Given the description of an element on the screen output the (x, y) to click on. 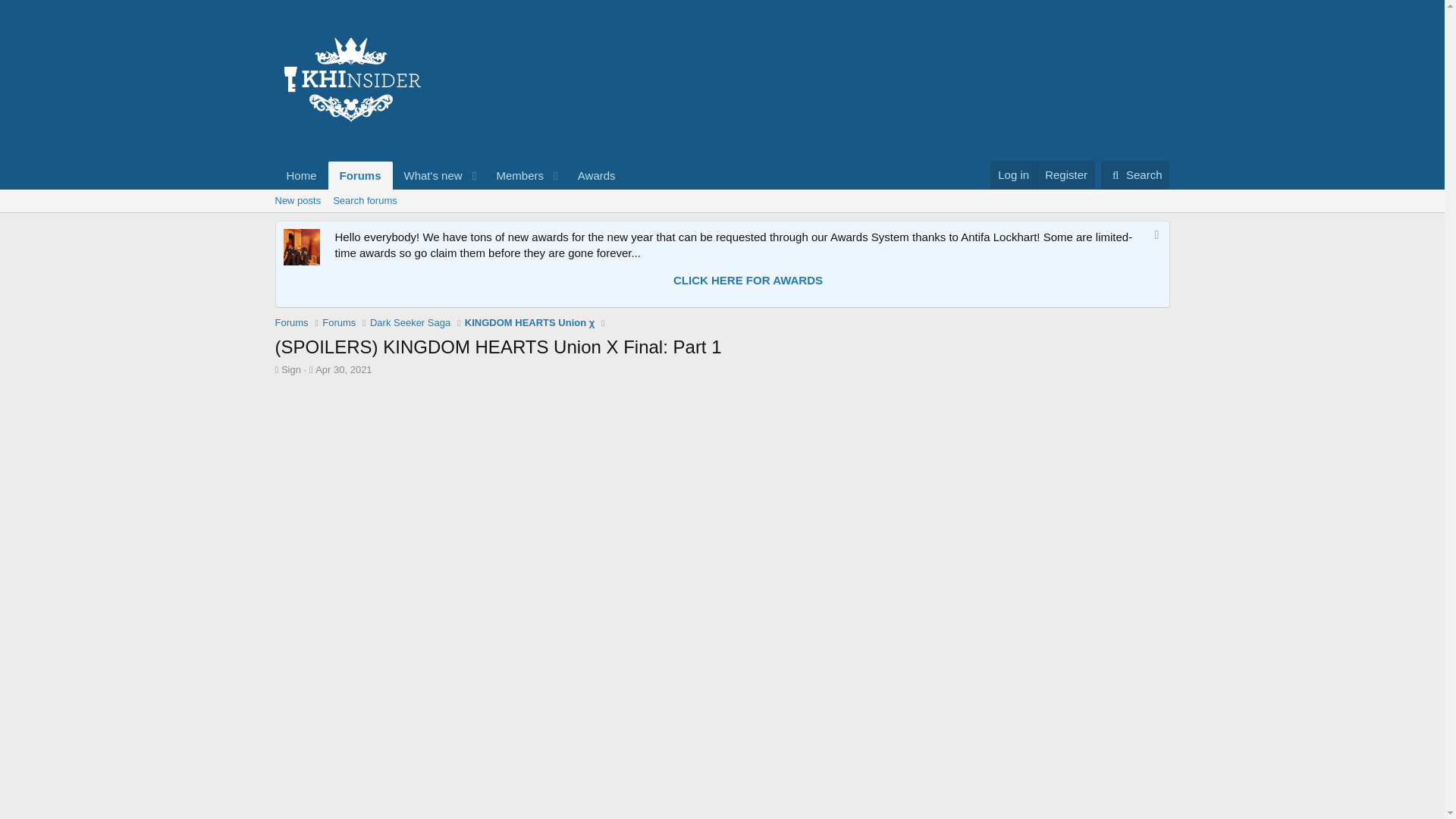
Awards (720, 200)
Log in (596, 175)
Search (1013, 174)
Members (1135, 174)
Apr 30, 2021 (514, 175)
Dark Seeker Saga (343, 369)
Search forums (409, 322)
Search (364, 200)
Forums (1135, 174)
